Given the description of an element on the screen output the (x, y) to click on. 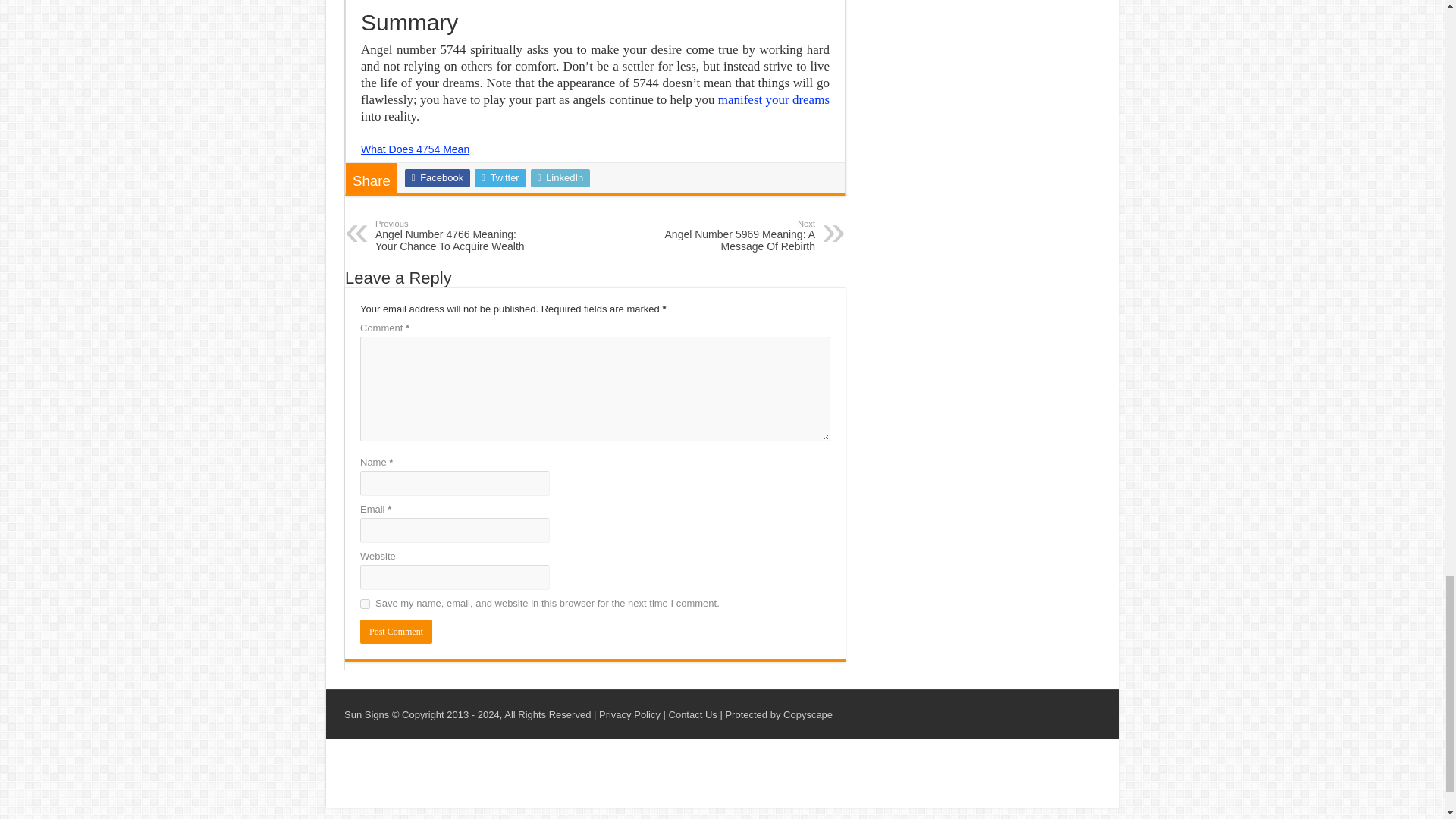
Post Comment (395, 631)
yes (364, 603)
What Does 4754 Mean (414, 149)
